Given the description of an element on the screen output the (x, y) to click on. 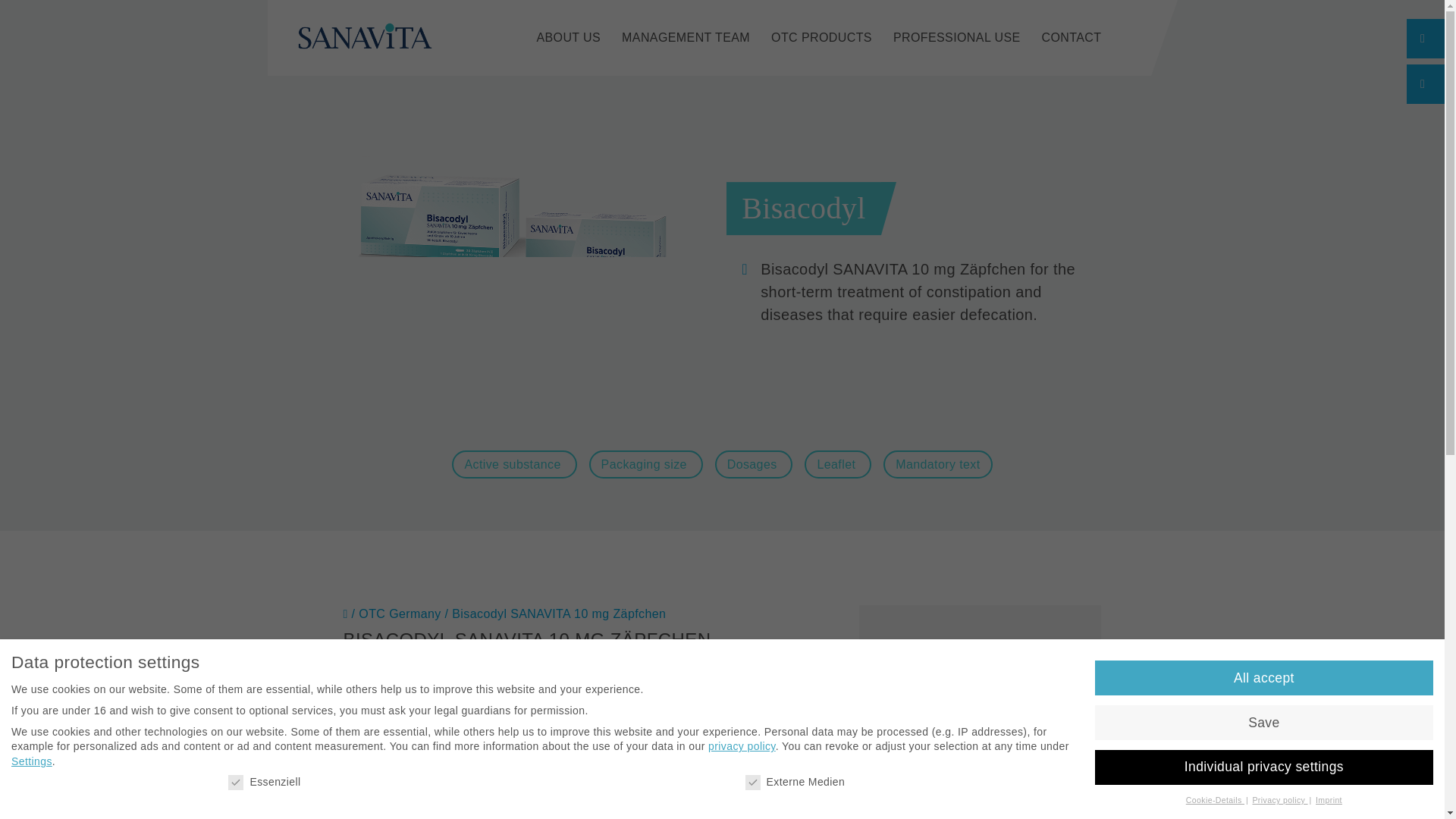
Professional Use (956, 37)
PROFESSIONAL USE (956, 37)
OTC Products (821, 37)
Active substance (513, 464)
Save (1263, 722)
CONTACT (1072, 37)
About Us (567, 37)
Packaging size (646, 464)
Mandatory text (937, 464)
Privacy policy (1279, 799)
